Given the description of an element on the screen output the (x, y) to click on. 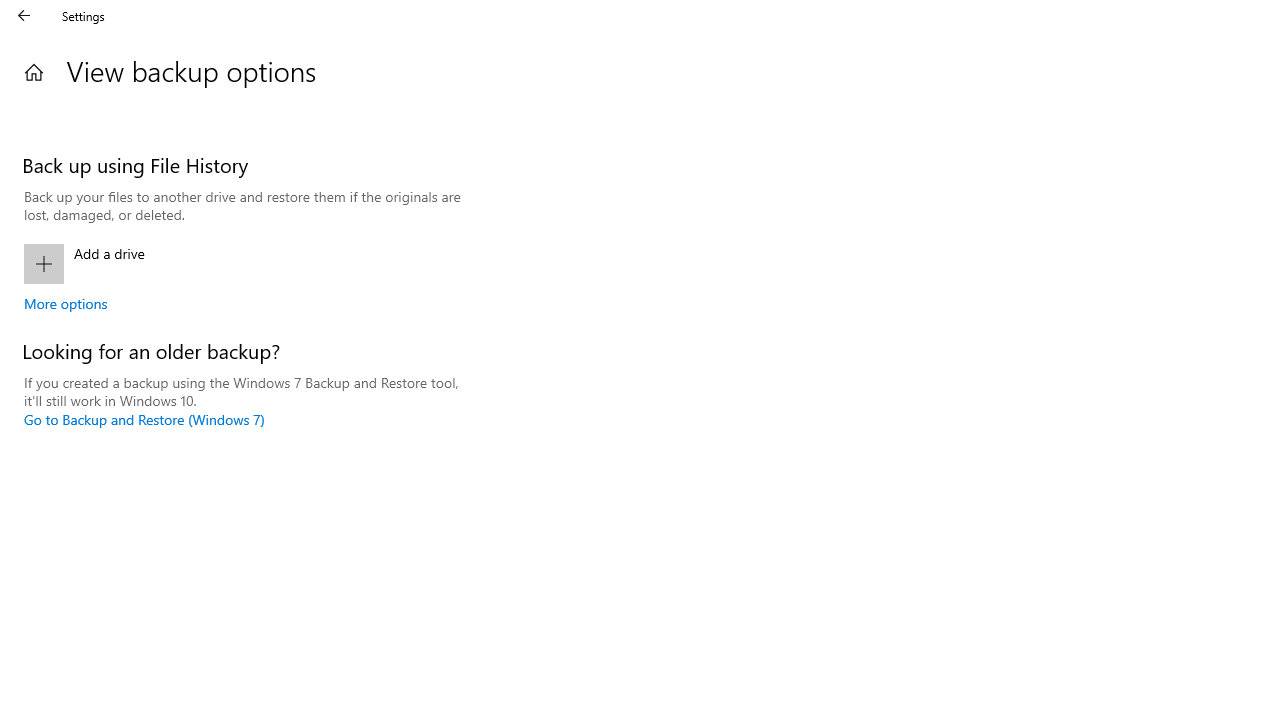
Home (33, 71)
More options (65, 303)
Back (24, 15)
Add a drive (243, 263)
Go to Backup and Restore (Windows 7) (144, 419)
